Given the description of an element on the screen output the (x, y) to click on. 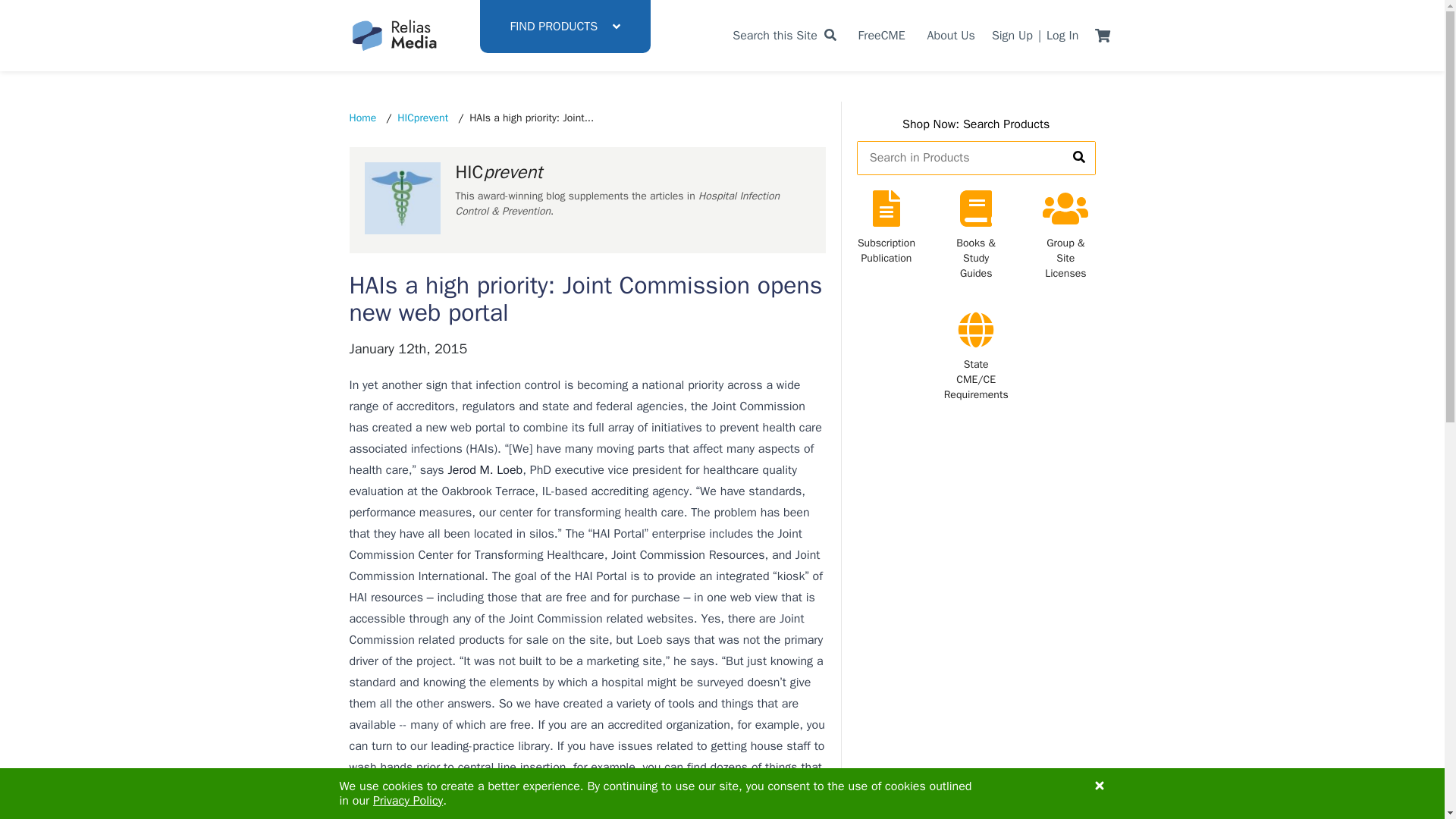
Subscription Publication (886, 235)
HICprevent (422, 117)
Search this Site (783, 35)
Log In (1062, 35)
FIND PRODUCTS (564, 26)
About Us (951, 35)
FreeCME (882, 35)
Home (362, 117)
Sign Up (1011, 35)
